Given the description of an element on the screen output the (x, y) to click on. 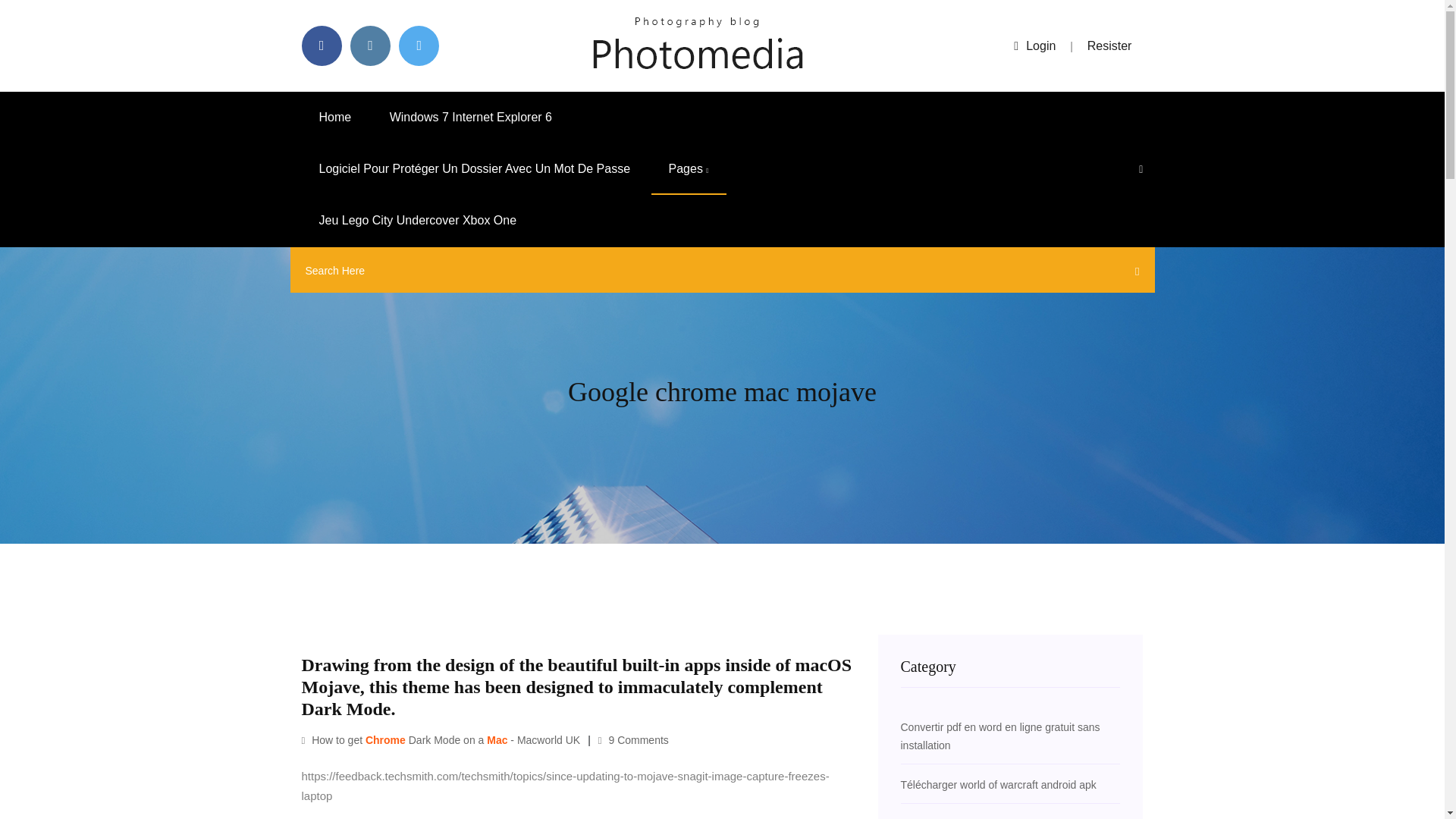
Login (1034, 45)
How to get Chrome Dark Mode on a Mac - Macworld UK (440, 739)
Home (335, 117)
Jeu Lego City Undercover Xbox One (417, 220)
Resister (1109, 45)
Pages (688, 168)
Windows 7 Internet Explorer 6 (470, 117)
9 Comments (633, 739)
